Given the description of an element on the screen output the (x, y) to click on. 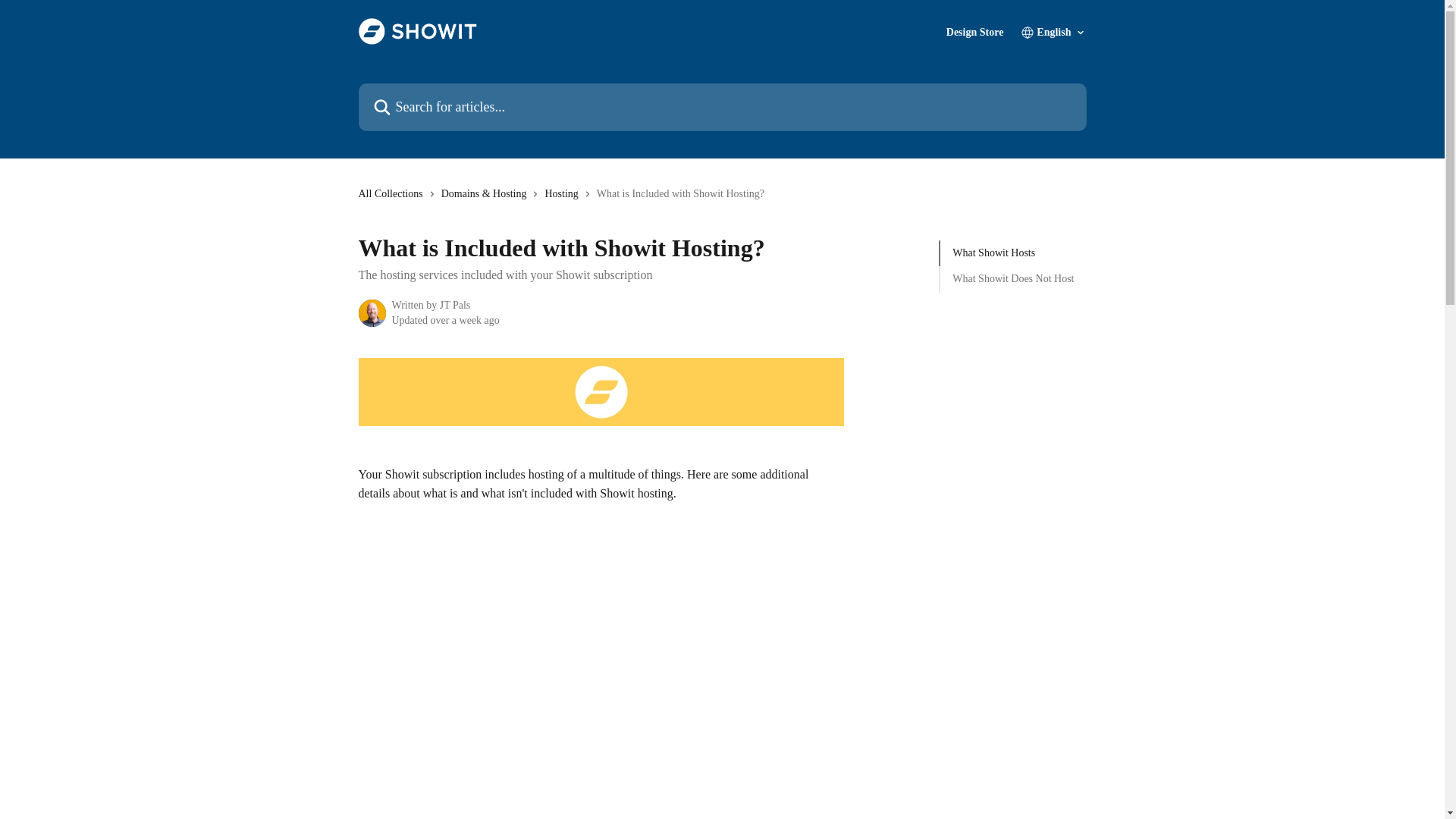
All Collections (393, 193)
What Showit Does Not Host (1013, 279)
Design Store (975, 32)
Hosting (563, 193)
What Showit Hosts (1013, 252)
